Given the description of an element on the screen output the (x, y) to click on. 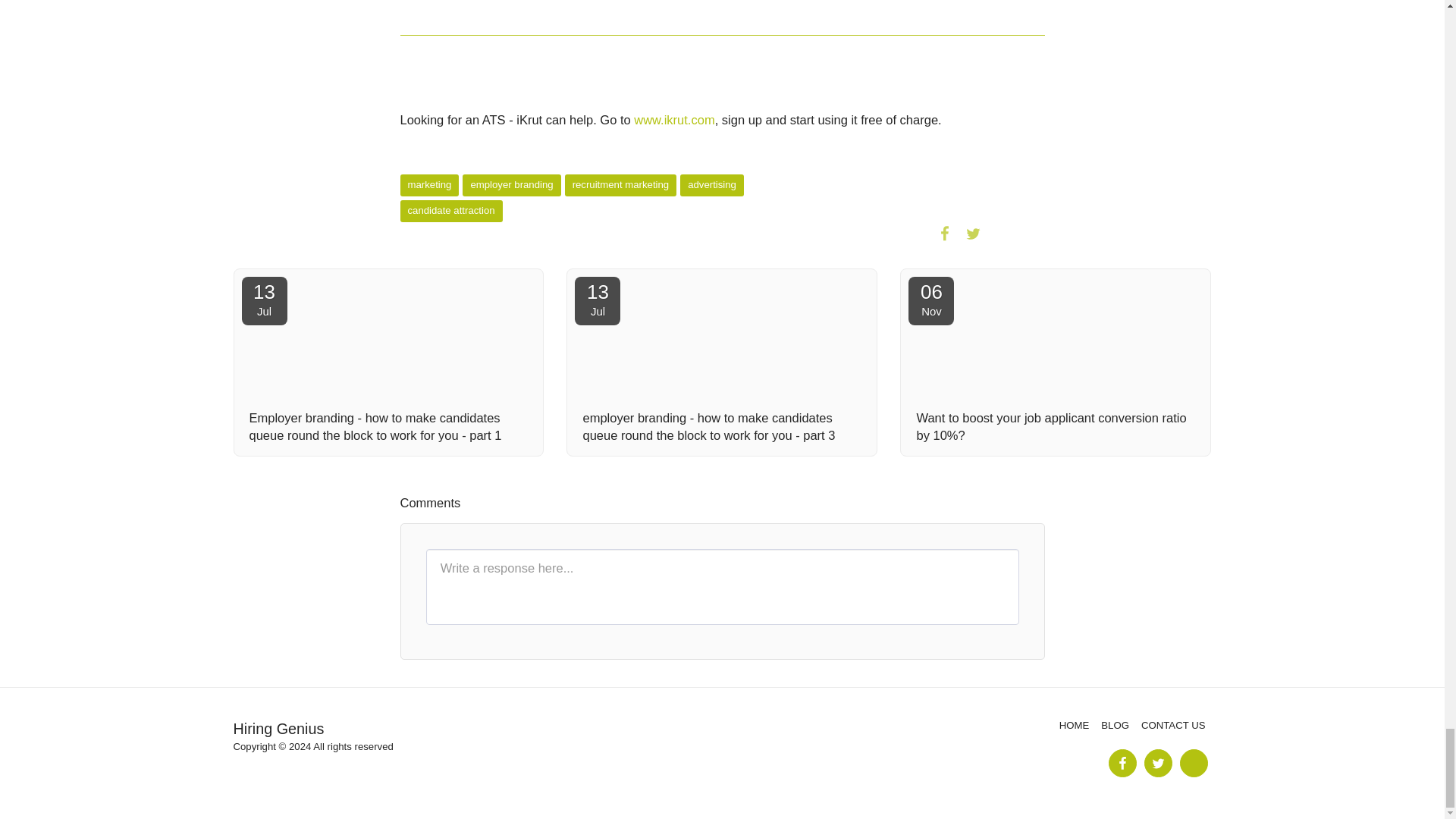
advertising (711, 185)
Pin it (1002, 233)
recruitment marketing (620, 185)
employer branding (511, 185)
RSS (263, 300)
